Given the description of an element on the screen output the (x, y) to click on. 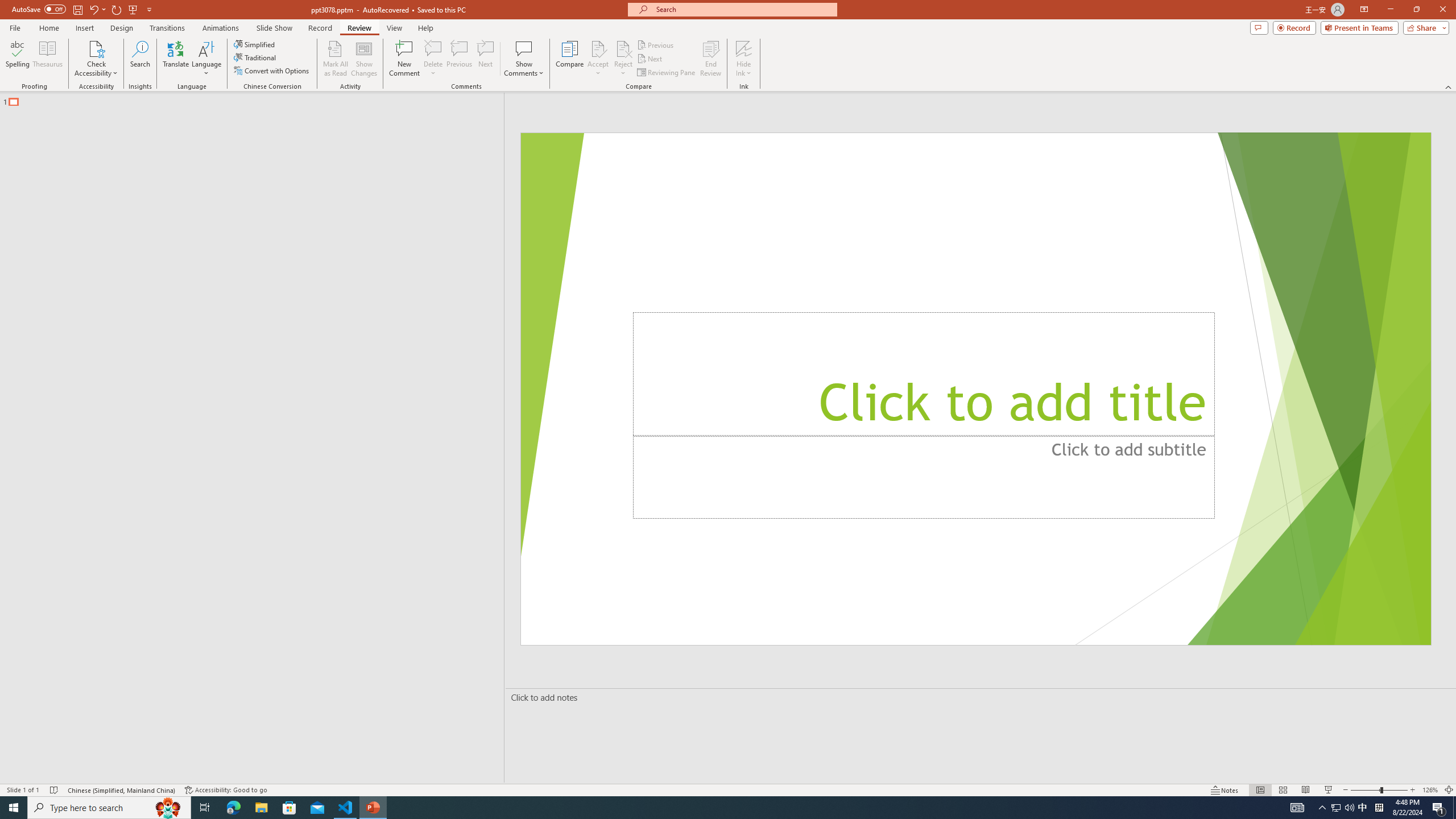
Spelling... (17, 58)
Zoom 126% (1430, 790)
Accessibility Checker Accessibility: Good to go (226, 790)
Show Changes (363, 58)
Reviewing Pane (666, 72)
Translate (175, 58)
